Given the description of an element on the screen output the (x, y) to click on. 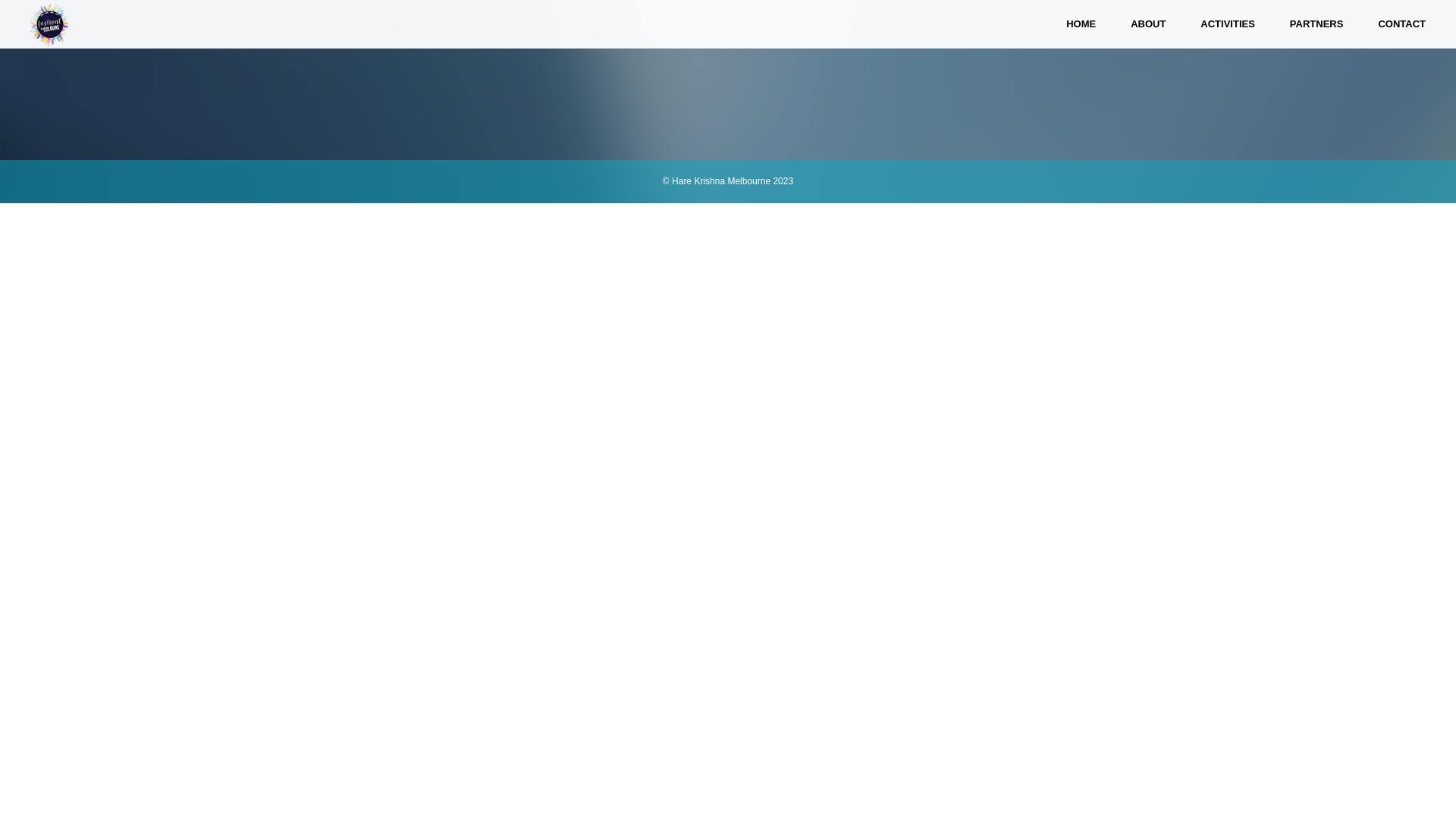
PARTNERS Element type: text (1316, 24)
ABOUT Element type: text (1148, 24)
ACTIVITIES Element type: text (1227, 24)
CONTACT Element type: text (1401, 24)
HOME Element type: text (1080, 24)
